Given the description of an element on the screen output the (x, y) to click on. 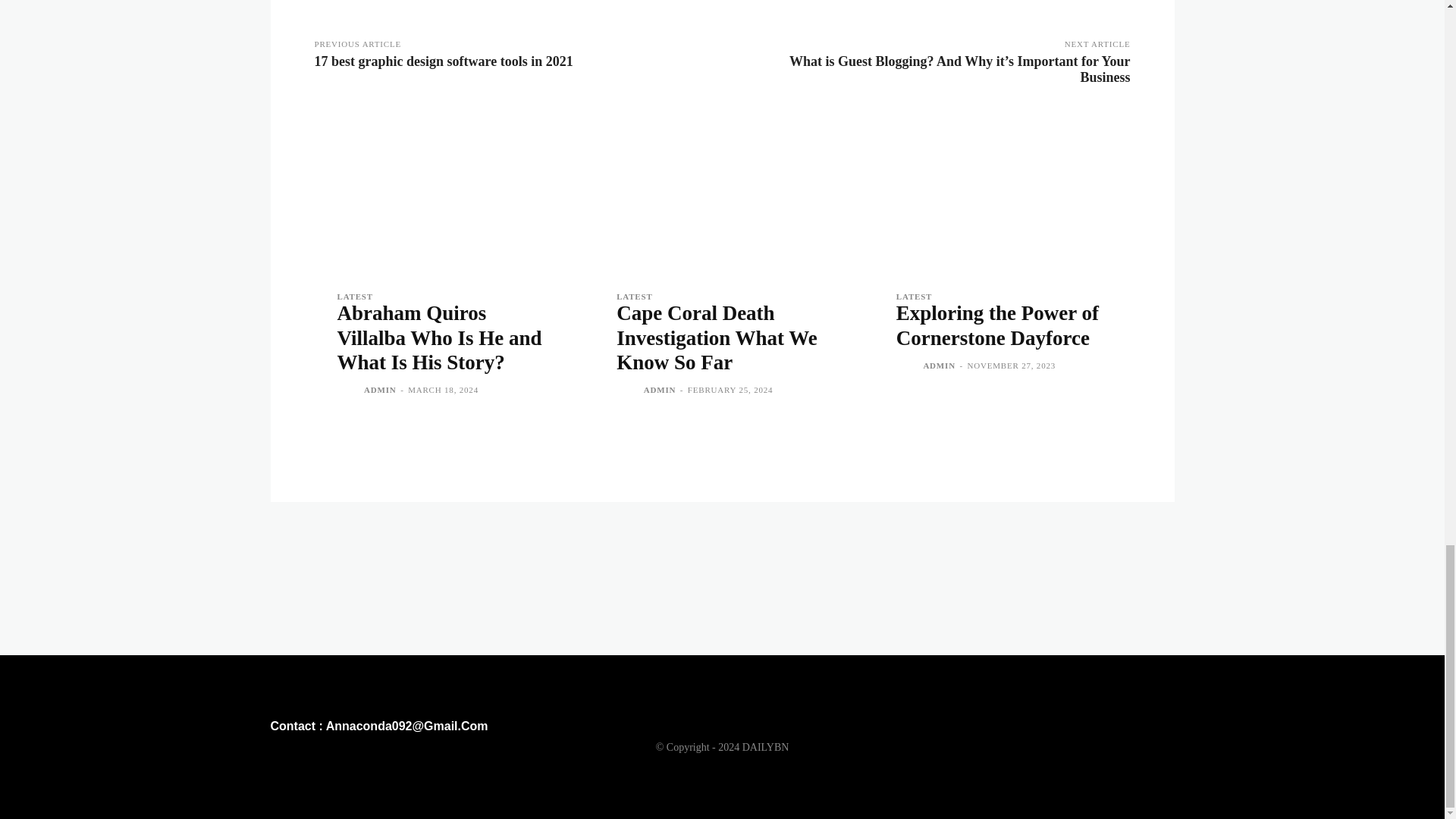
Abraham Quiros Villalba Who Is He and What Is His Story? (442, 193)
Cape Coral Death Investigation What We Know So Far (715, 337)
Abraham Quiros Villalba Who Is He and What Is His Story? (438, 337)
Cape Coral Death Investigation What We Know So Far (722, 193)
